Given the description of an element on the screen output the (x, y) to click on. 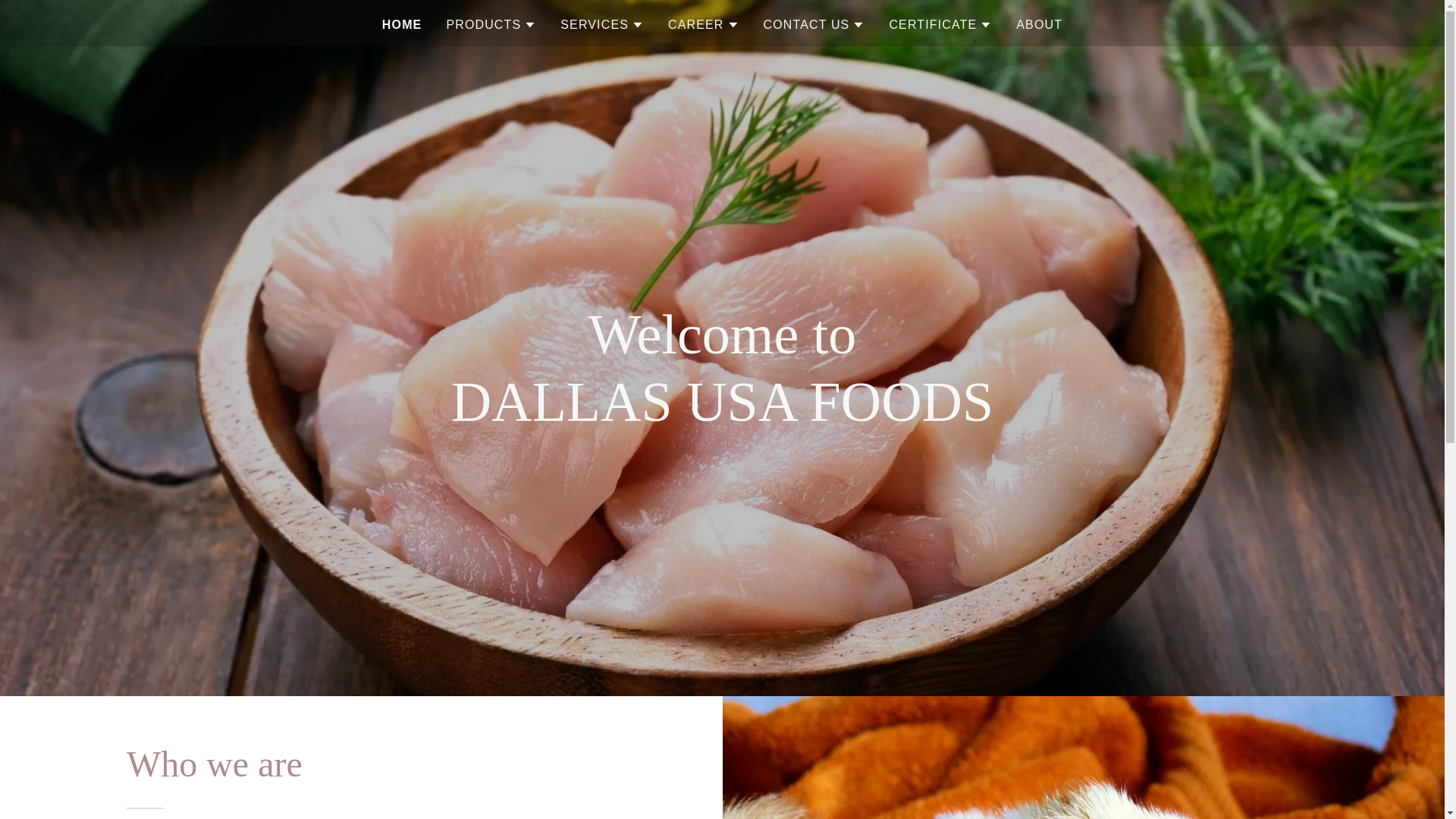
PRODUCTS (490, 24)
CONTACT US (813, 24)
CERTIFICATE (939, 24)
SERVICES (601, 24)
CAREER (703, 24)
HOME (401, 24)
ABOUT (1039, 24)
